Given the description of an element on the screen output the (x, y) to click on. 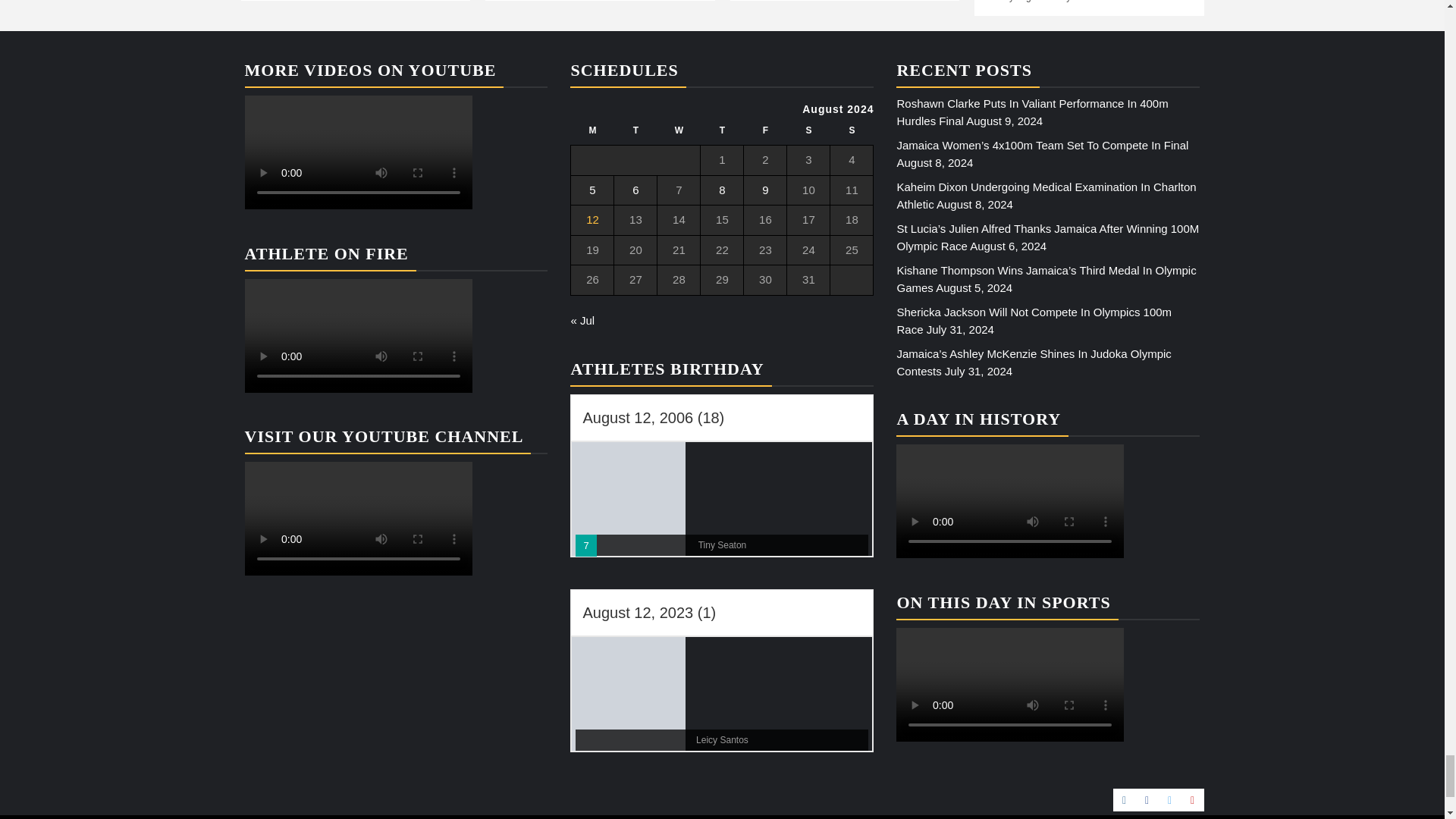
Wednesday (679, 134)
Sunday (851, 134)
Monday (592, 134)
Thursday (722, 134)
Saturday (808, 134)
Friday (765, 134)
Tuesday (636, 134)
